Given the description of an element on the screen output the (x, y) to click on. 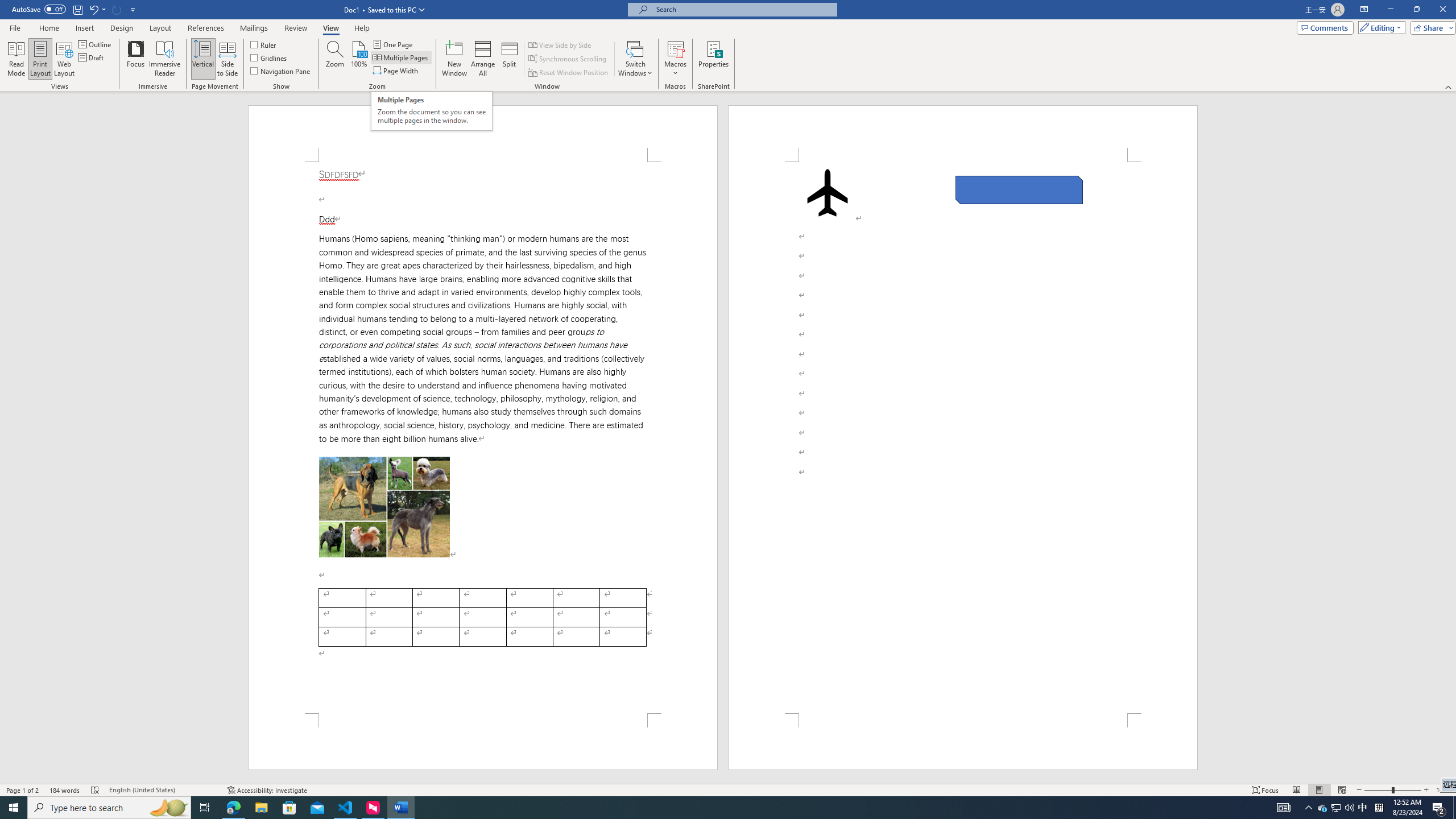
Undo Apply Quick Style Set (92, 9)
View Macros (675, 48)
New Window (454, 58)
Switch Windows (635, 58)
